Given the description of an element on the screen output the (x, y) to click on. 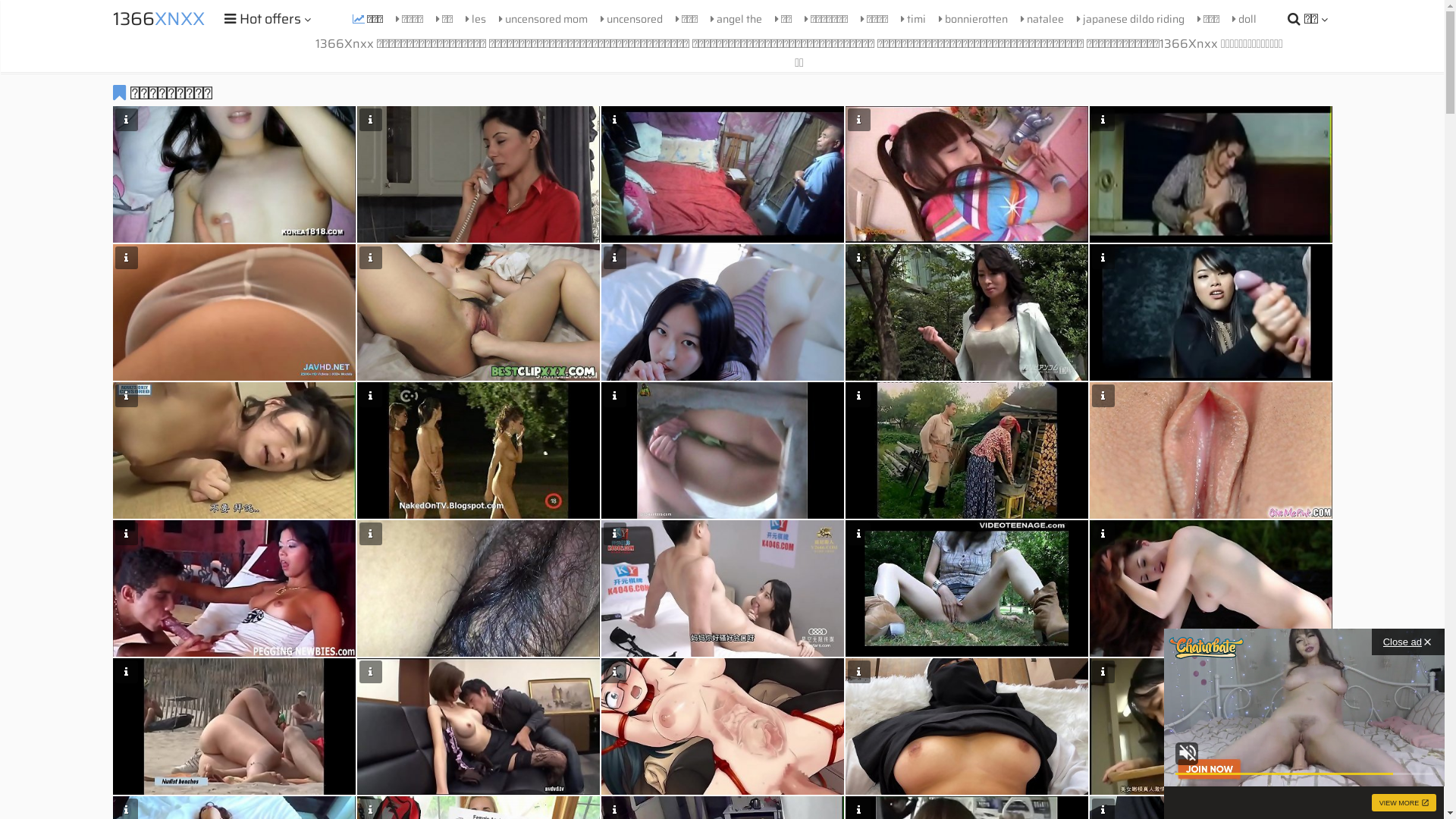
doll Element type: text (1244, 18)
bonnierotten Element type: text (972, 18)
les Element type: text (475, 18)
uncensored mom Element type: text (542, 18)
natalee Element type: text (1041, 18)
timi Element type: text (912, 18)
japanese dildo riding Element type: text (1129, 18)
angel the Element type: text (735, 18)
uncensored Element type: text (630, 18)
1366XNXX Element type: text (157, 18)
